Given the description of an element on the screen output the (x, y) to click on. 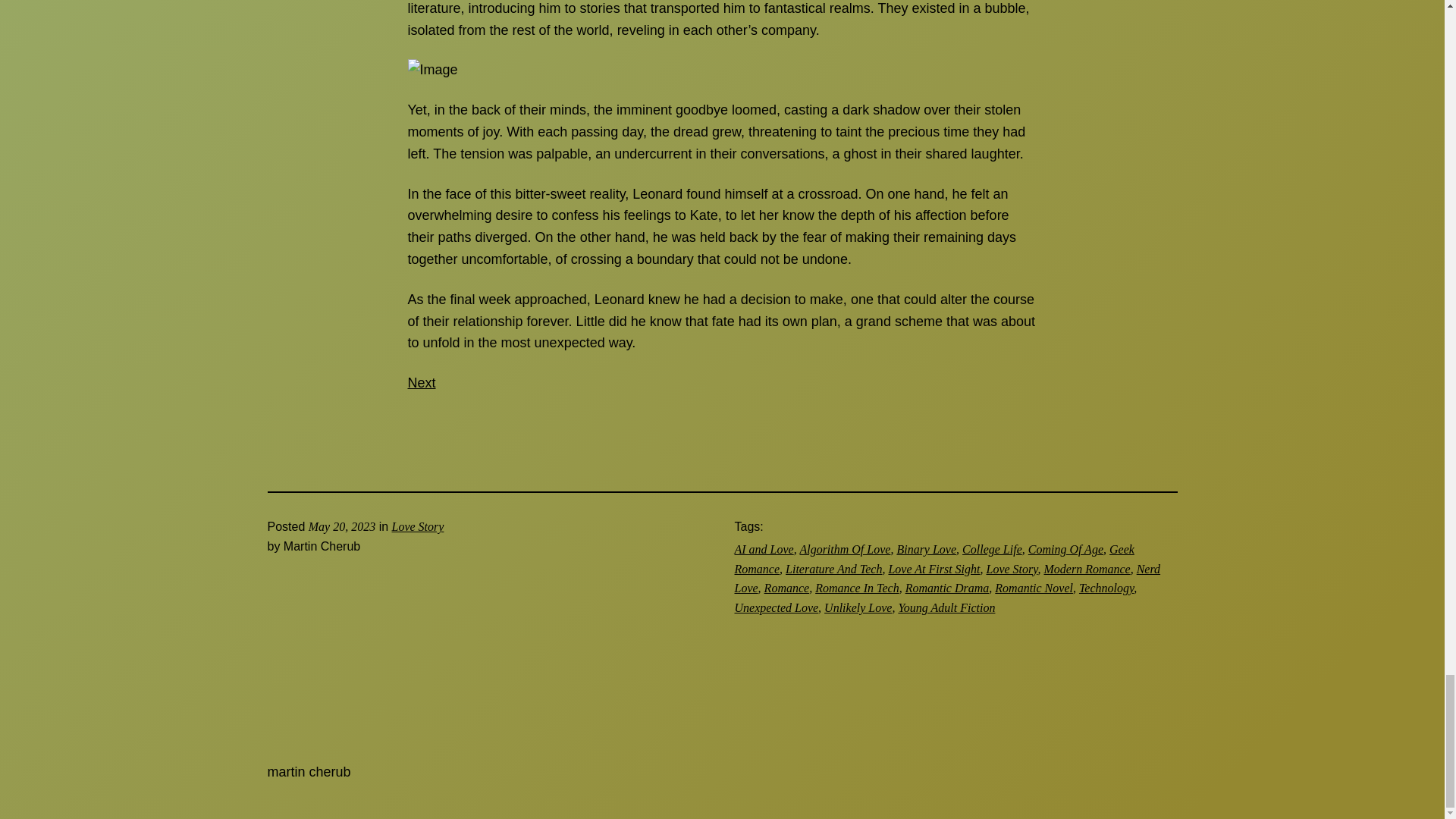
AI and Love (763, 549)
Algorithm Of Love (844, 549)
Young Adult Fiction (946, 607)
Love At First Sight (933, 568)
Love Story (417, 526)
Romance In Tech (857, 587)
Romance (786, 587)
Geek Romance (933, 558)
Modern Romance (1086, 568)
Nerd Love (946, 578)
Love Story (1010, 568)
Coming Of Age (1065, 549)
Unexpected Love (775, 607)
Romantic Drama (947, 587)
Binary Love (926, 549)
